Given the description of an element on the screen output the (x, y) to click on. 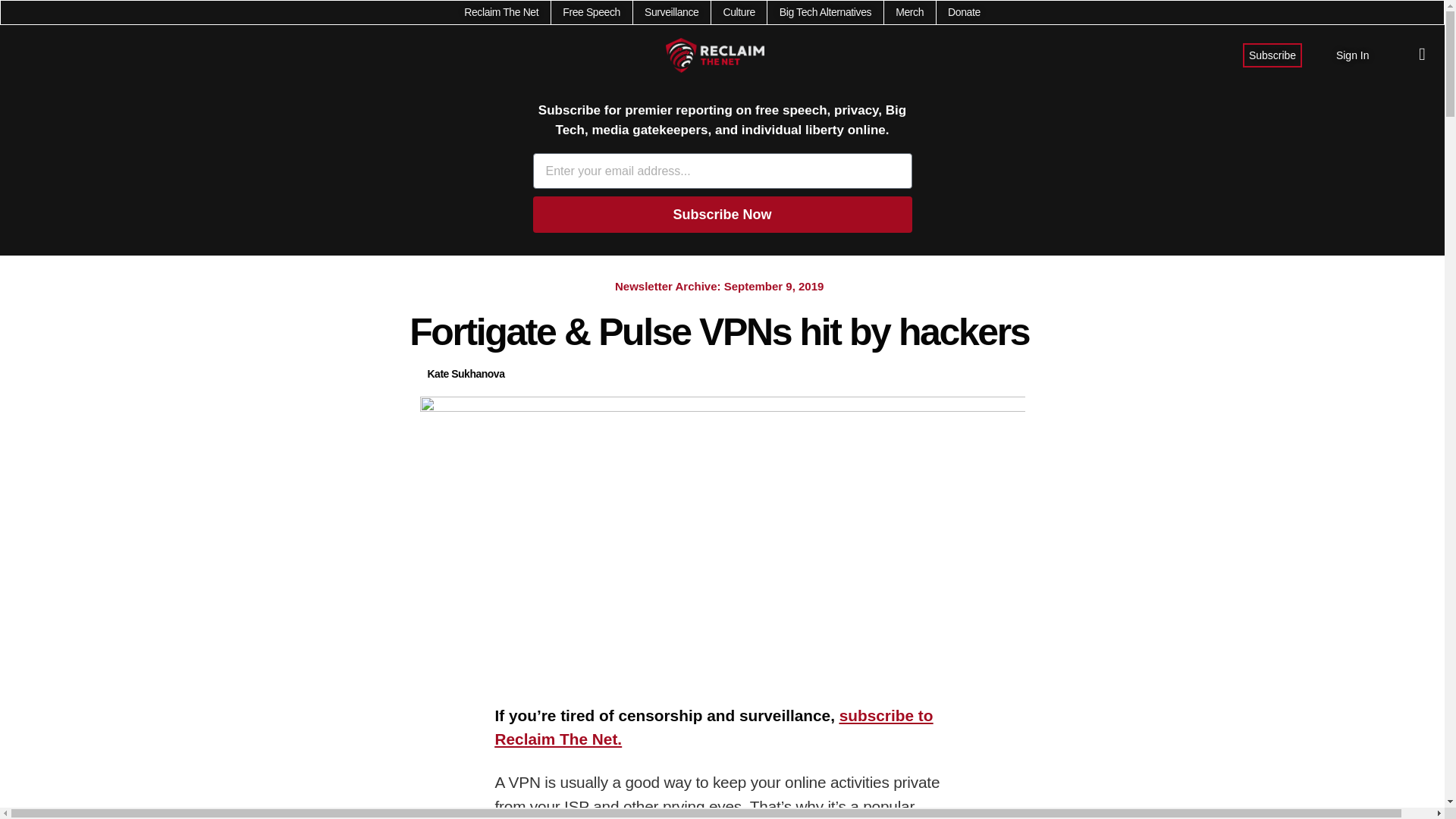
Free Speech (591, 12)
Culture (738, 12)
Surveillance (671, 12)
subscribe to Reclaim The Net. (714, 726)
Big Tech Alternatives (824, 12)
Kate Sukhanova (466, 374)
Subscribe (1272, 55)
Merch (909, 12)
Donate (963, 12)
Reclaim The Net (501, 12)
